Given the description of an element on the screen output the (x, y) to click on. 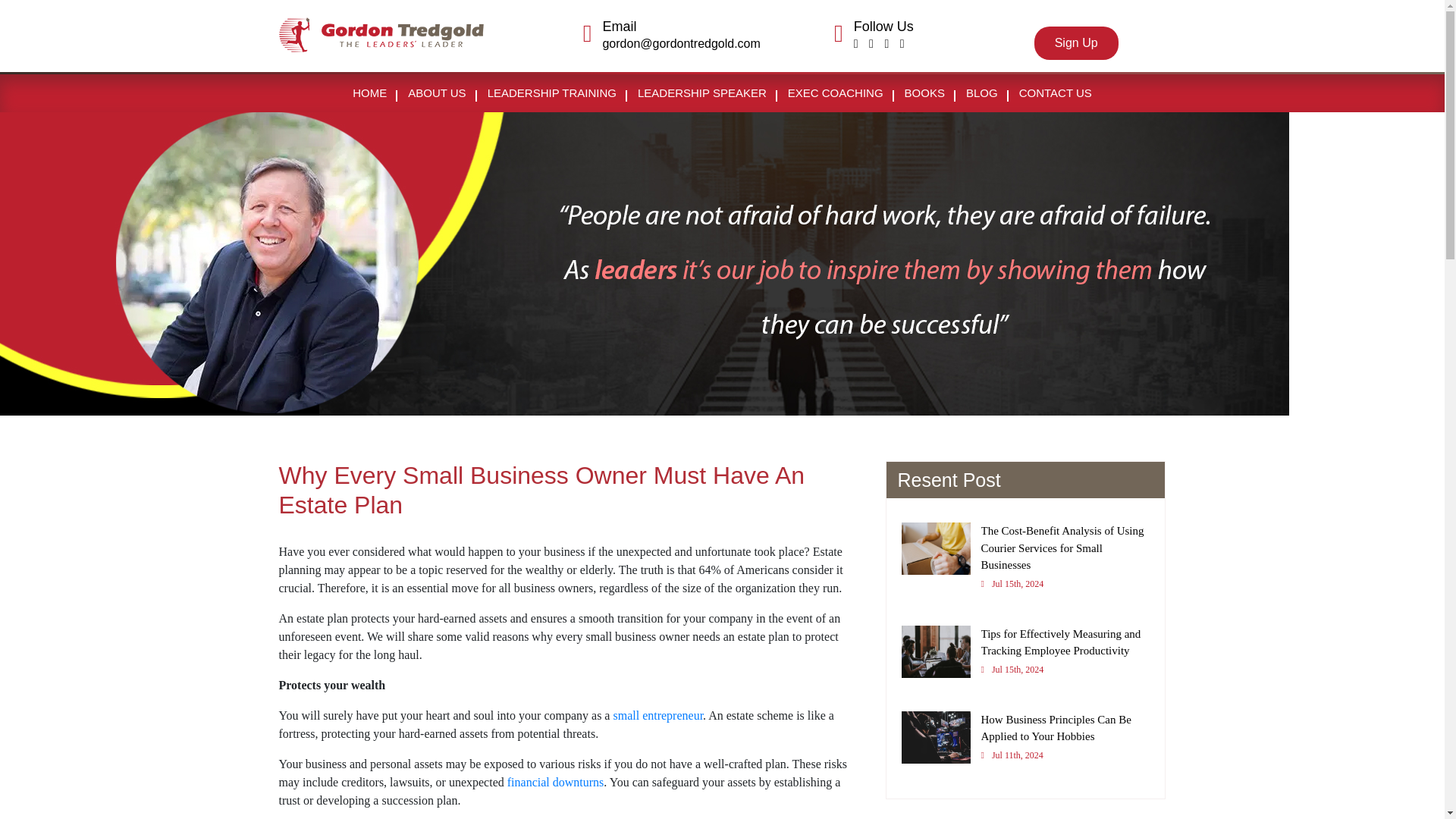
Sign Up (1075, 42)
LEADERSHIP SPEAKER (702, 92)
BLOG (982, 92)
BOOKS (924, 92)
CONTACT US (1055, 92)
HOME (369, 92)
small entrepreneur (657, 715)
financial downturns (555, 781)
ABOUT US (436, 92)
EXEC COACHING (835, 92)
LEADERSHIP TRAINING (552, 92)
